Given the description of an element on the screen output the (x, y) to click on. 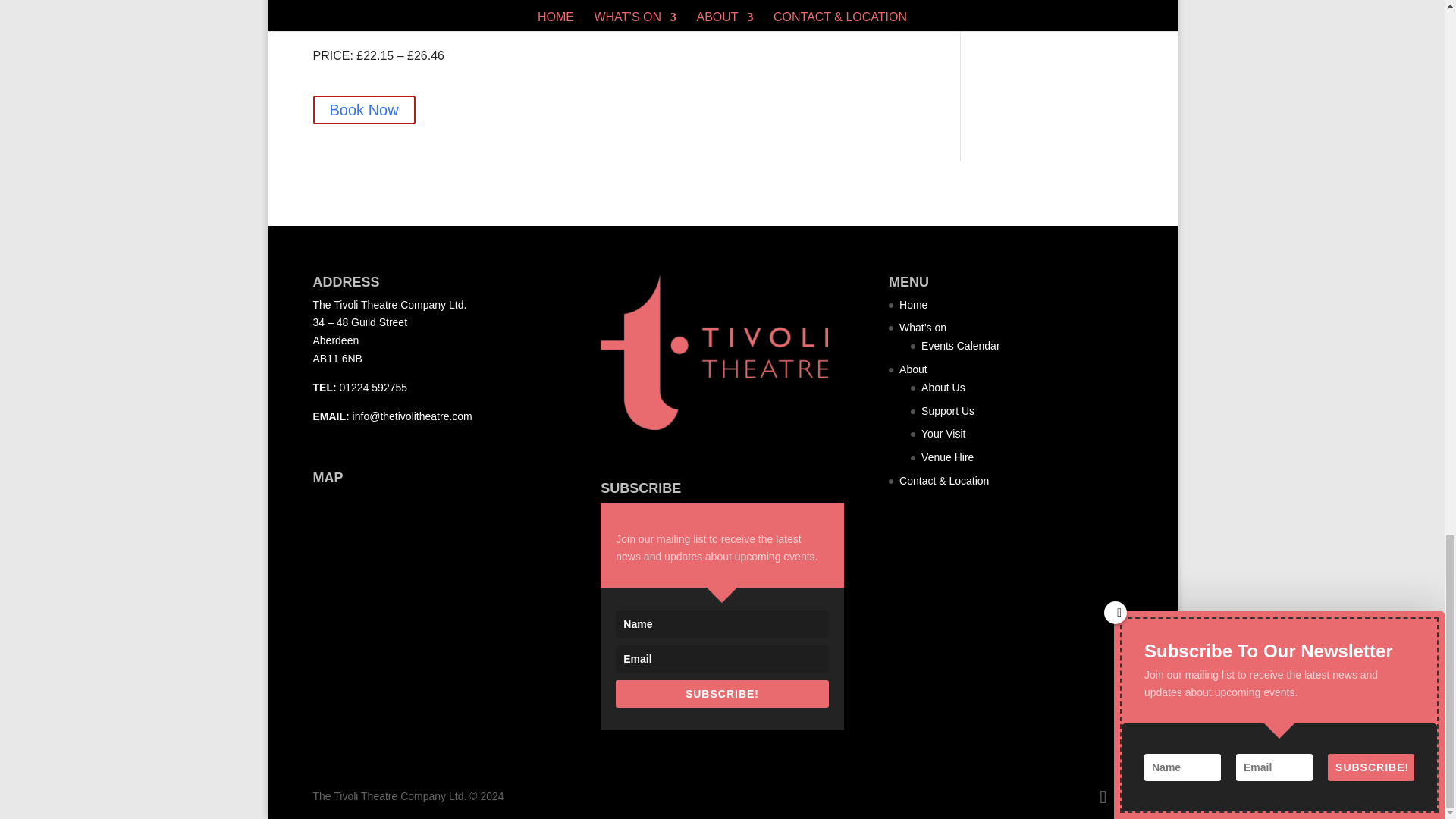
Events Calendar (960, 345)
SUBSCRIBE! (721, 693)
Home (913, 304)
Book Now (363, 109)
About Us (943, 387)
About (913, 369)
